Given the description of an element on the screen output the (x, y) to click on. 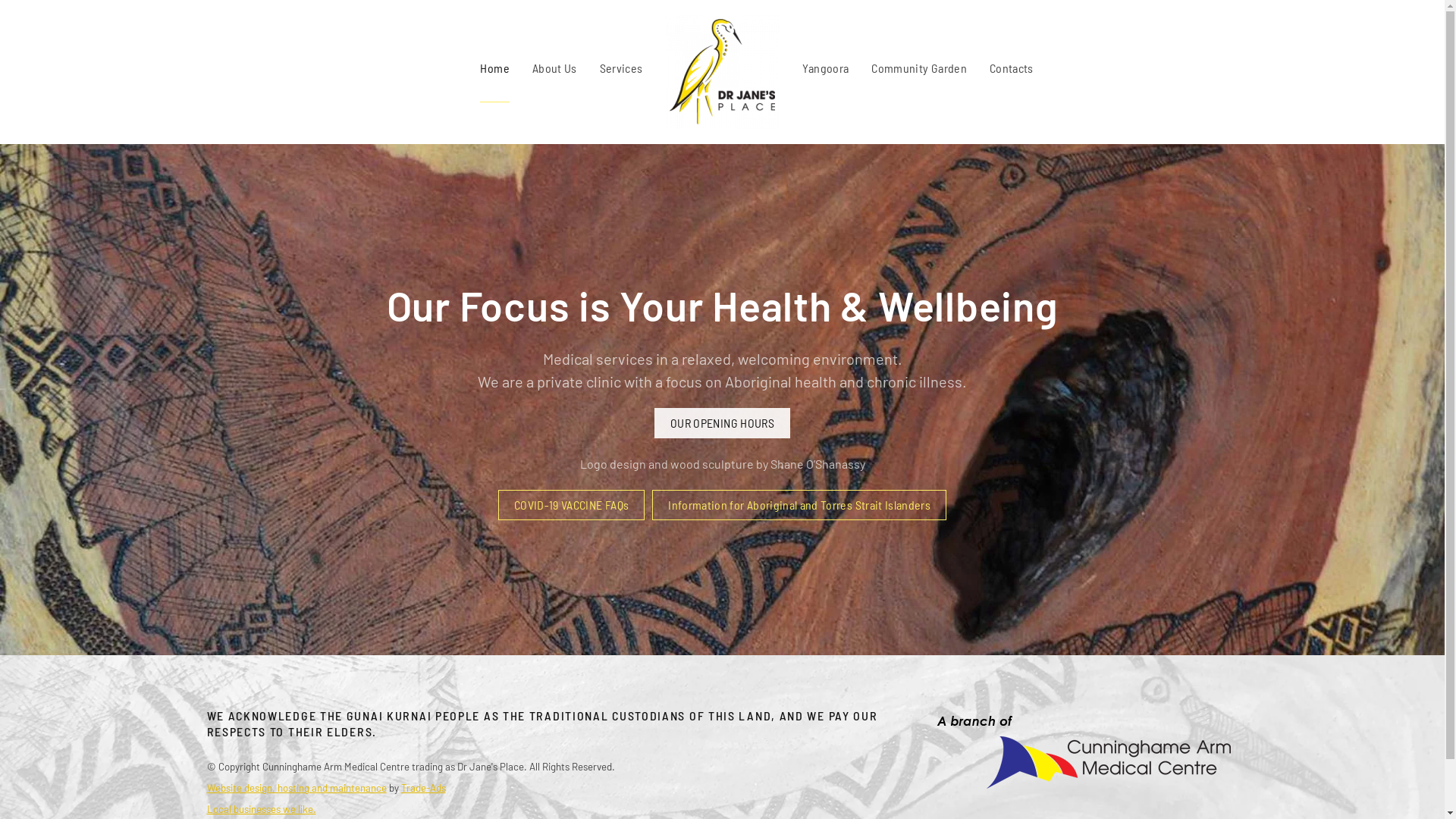
Home Element type: text (494, 68)
Services Element type: text (621, 68)
COVID-19 VACCINE FAQs Element type: text (571, 504)
Information for Aboriginal and Torres Strait Islanders Element type: text (799, 504)
Yangoora Element type: text (825, 68)
OUR OPENING HOURS Element type: text (722, 422)
About Us Element type: text (554, 68)
Community Garden Element type: text (918, 68)
Contacts Element type: text (1011, 68)
Trade-Ads Element type: text (422, 787)
Local businesses we like. Element type: text (260, 809)
Website design, hosting and maintenance Element type: text (295, 787)
